Given the description of an element on the screen output the (x, y) to click on. 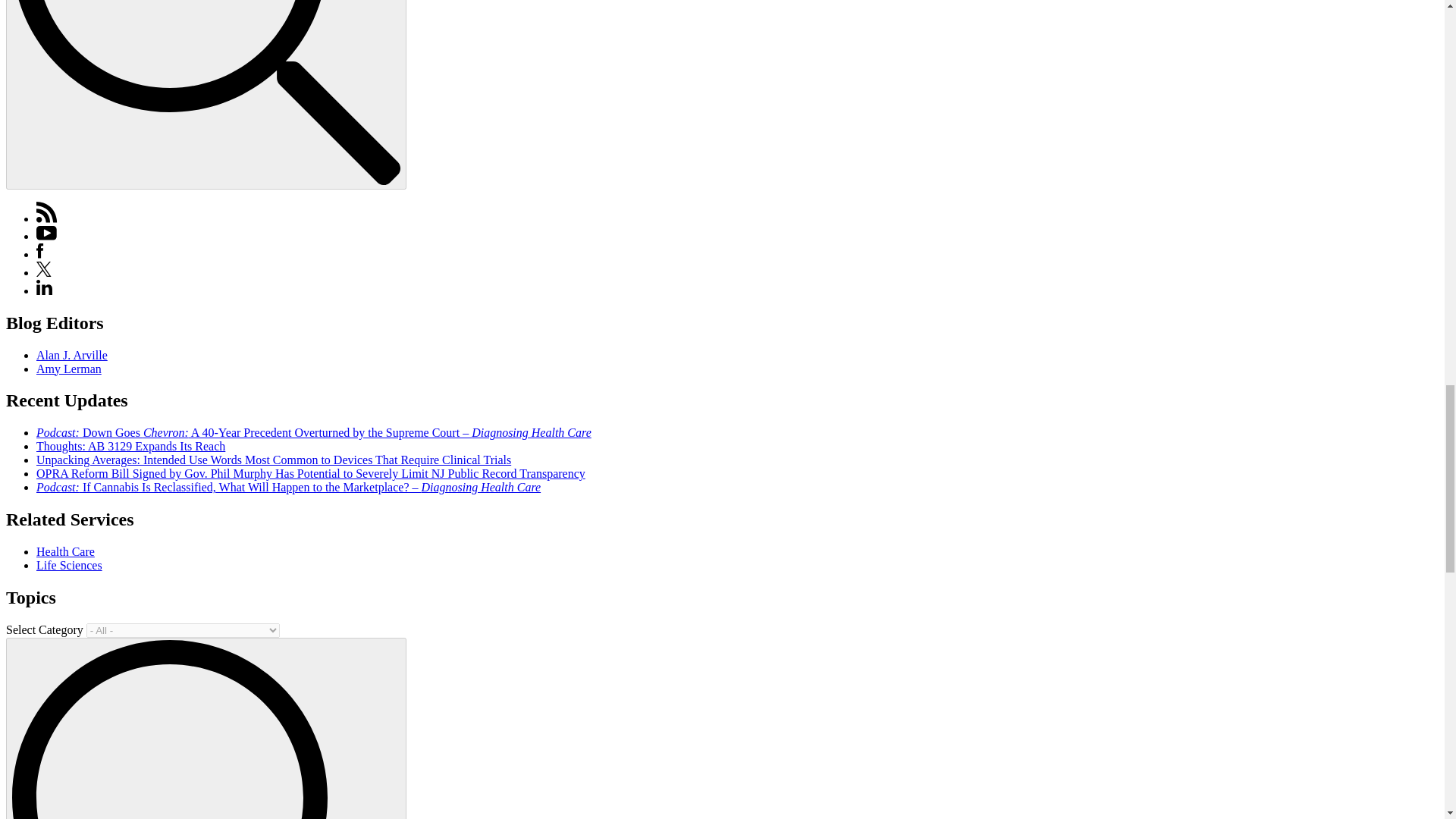
Amy Lerman (68, 368)
Life Sciences (68, 564)
Youtube (46, 236)
Search (205, 729)
Linkedin (44, 290)
Youtube (46, 233)
Twitter (43, 268)
Health Care (65, 551)
Thoughts: AB 3129 Expands Its Reach (130, 445)
Youtube (46, 236)
RSS (47, 218)
Twitter (43, 272)
RSS (47, 211)
